Given the description of an element on the screen output the (x, y) to click on. 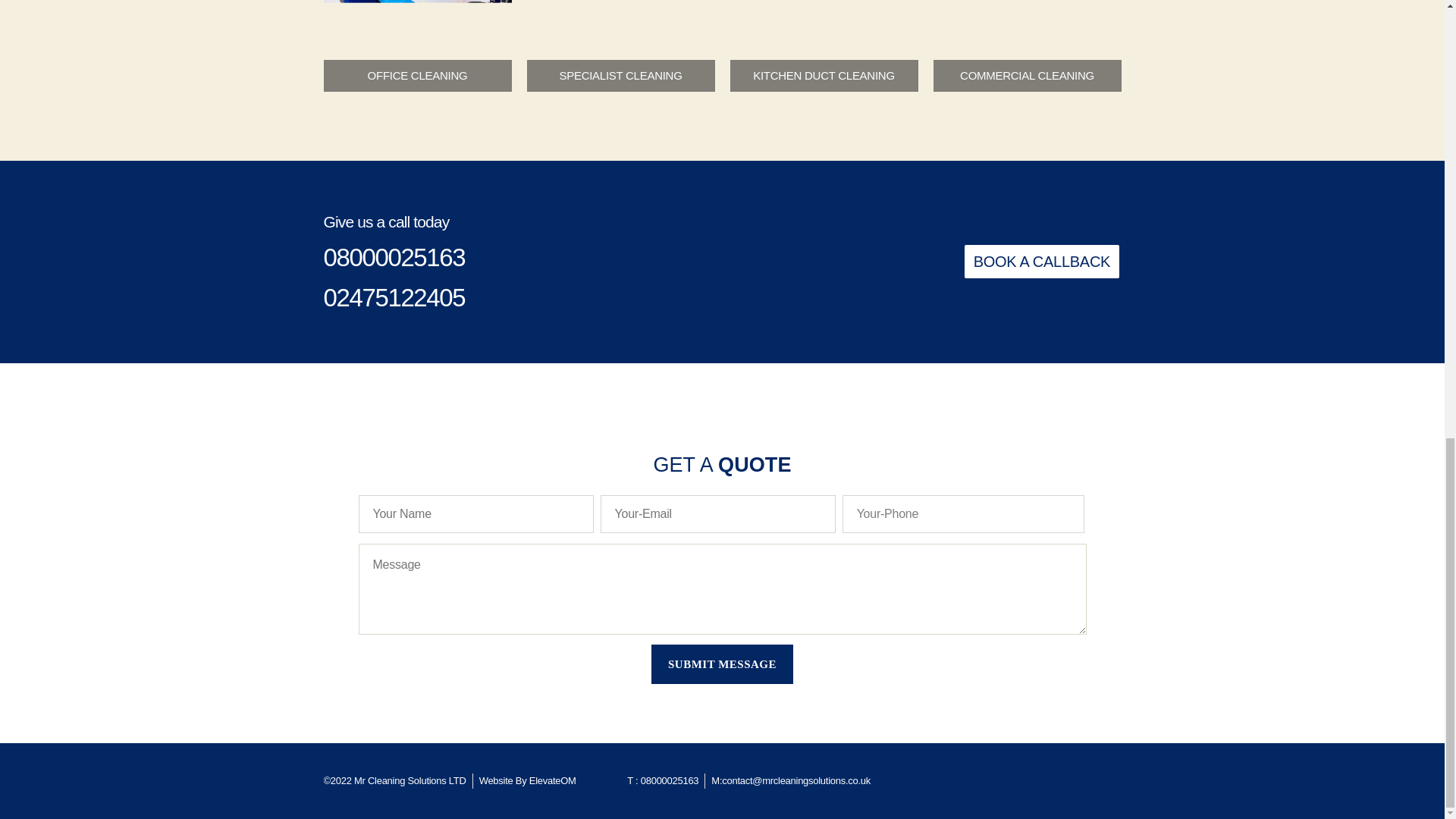
BOOK A CALLBACK (1041, 261)
02475122405 (393, 297)
Give us a call today (385, 221)
Your-Phone (963, 514)
T : 08000025163 (662, 780)
08000025163 (393, 257)
Website By ElevateOM (527, 780)
Submit Message (721, 663)
Submit Message (721, 663)
